Given the description of an element on the screen output the (x, y) to click on. 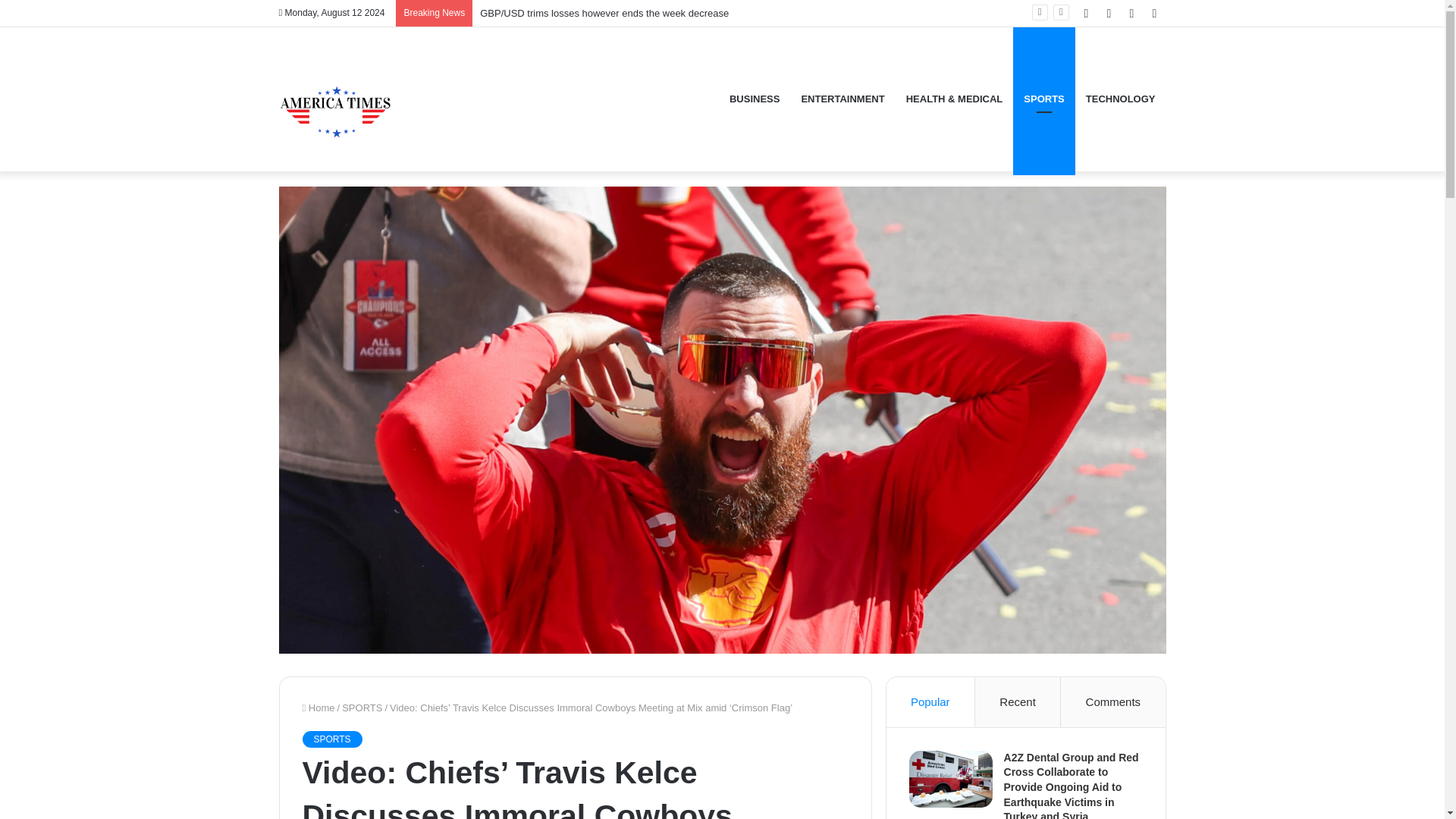
SPORTS (331, 739)
Home (317, 707)
AMERICA TIMES (336, 99)
SPORTS (361, 707)
